Given the description of an element on the screen output the (x, y) to click on. 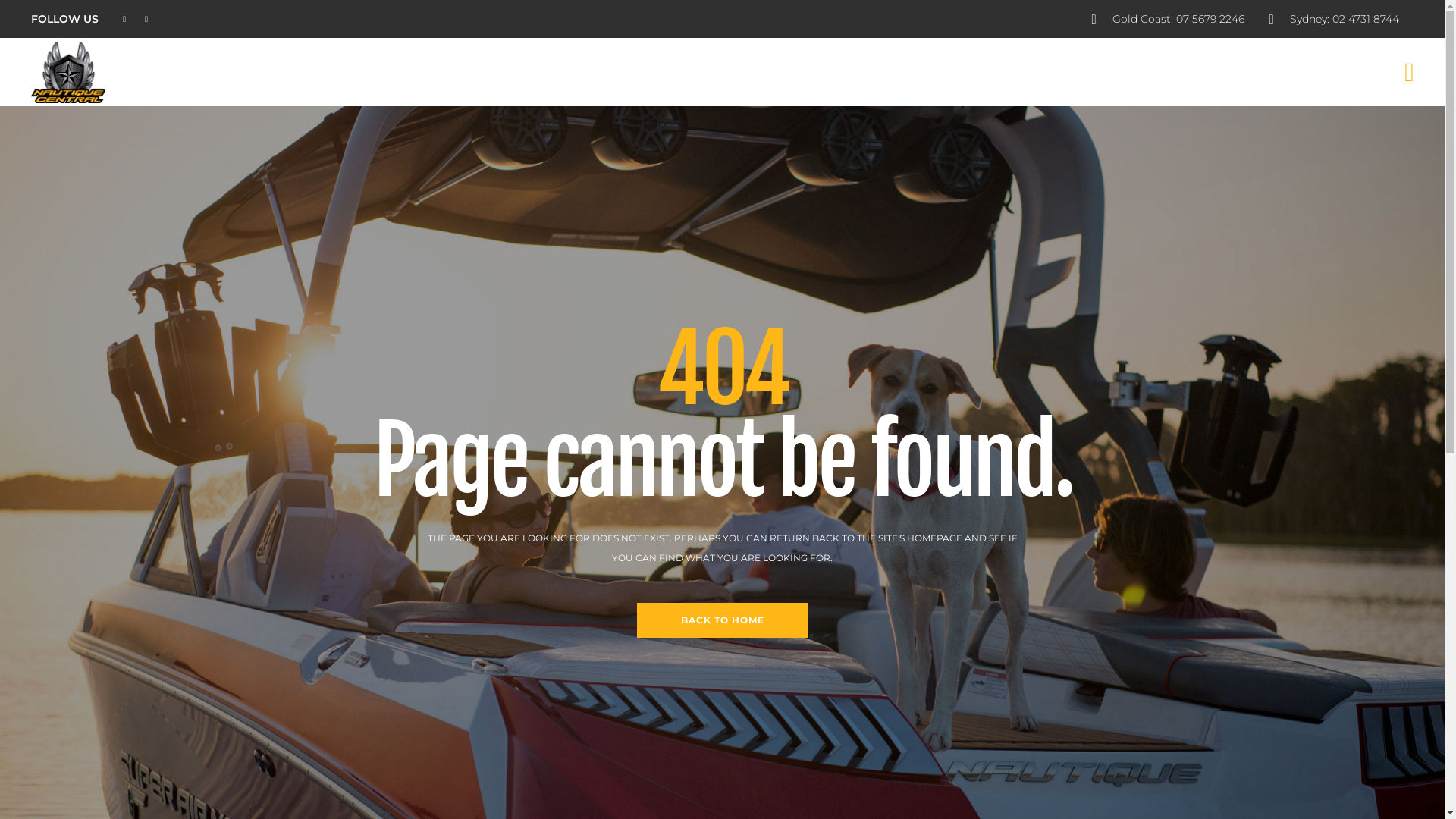
BACK TO HOME Element type: text (722, 619)
